Given the description of an element on the screen output the (x, y) to click on. 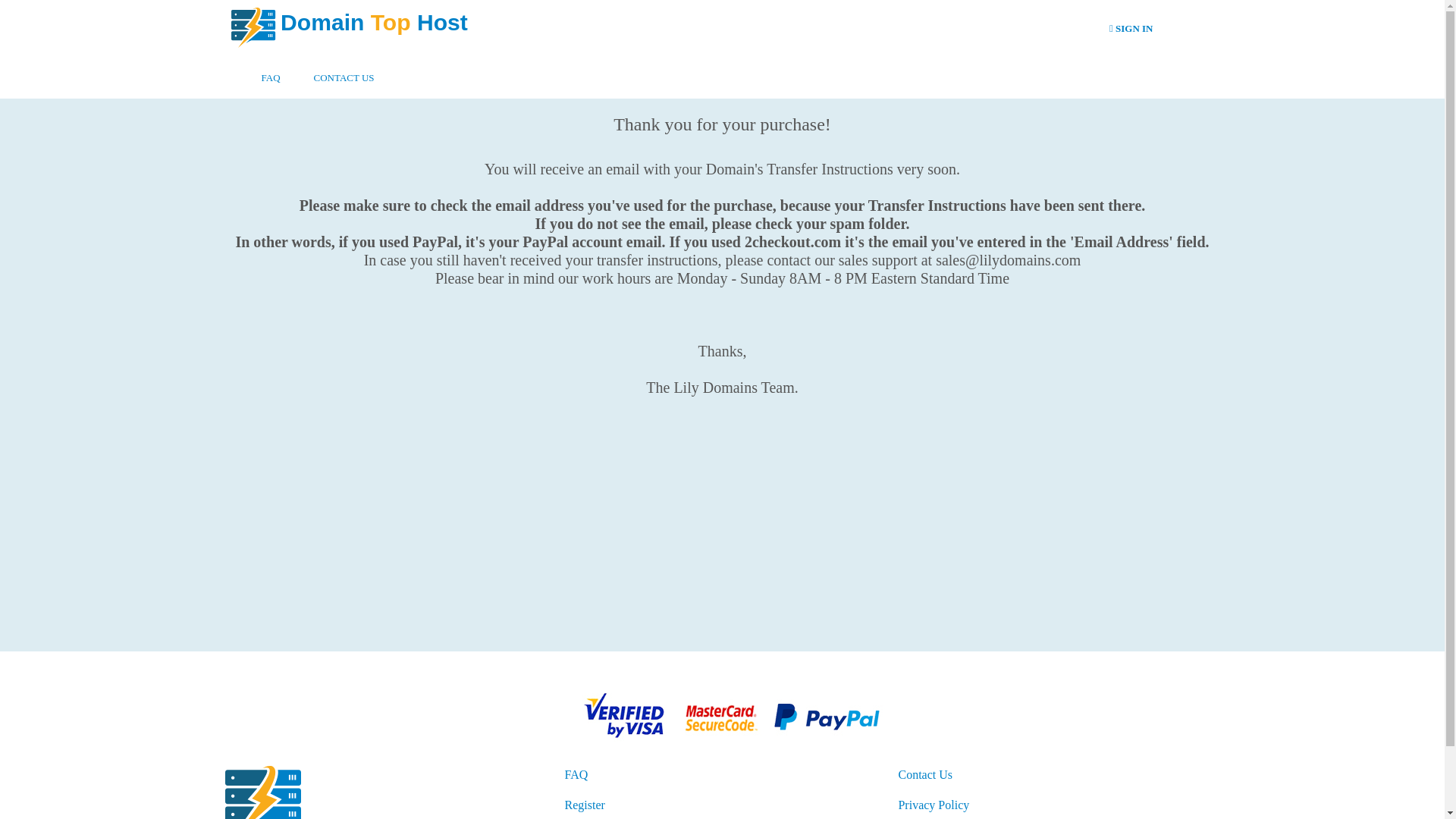
FAQ (269, 69)
SIGN IN (1131, 28)
Register (584, 804)
Privacy Policy (933, 804)
Contact Us (925, 774)
FAQ (576, 774)
CONTACT US (344, 69)
